Given the description of an element on the screen output the (x, y) to click on. 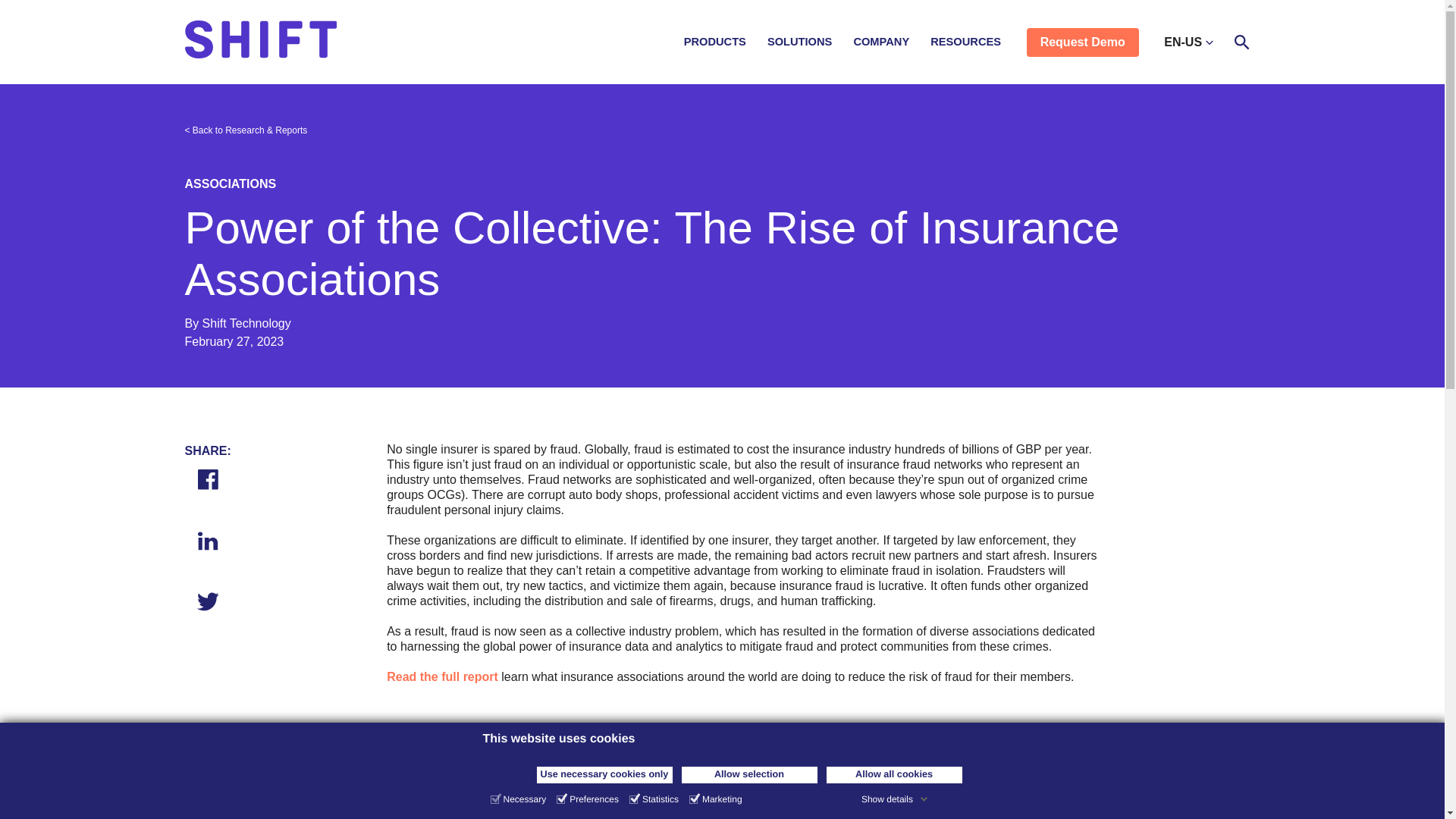
Show details (895, 799)
Allow all cookies (894, 774)
Use necessary cookies only (604, 774)
Allow selection (748, 774)
